Given the description of an element on the screen output the (x, y) to click on. 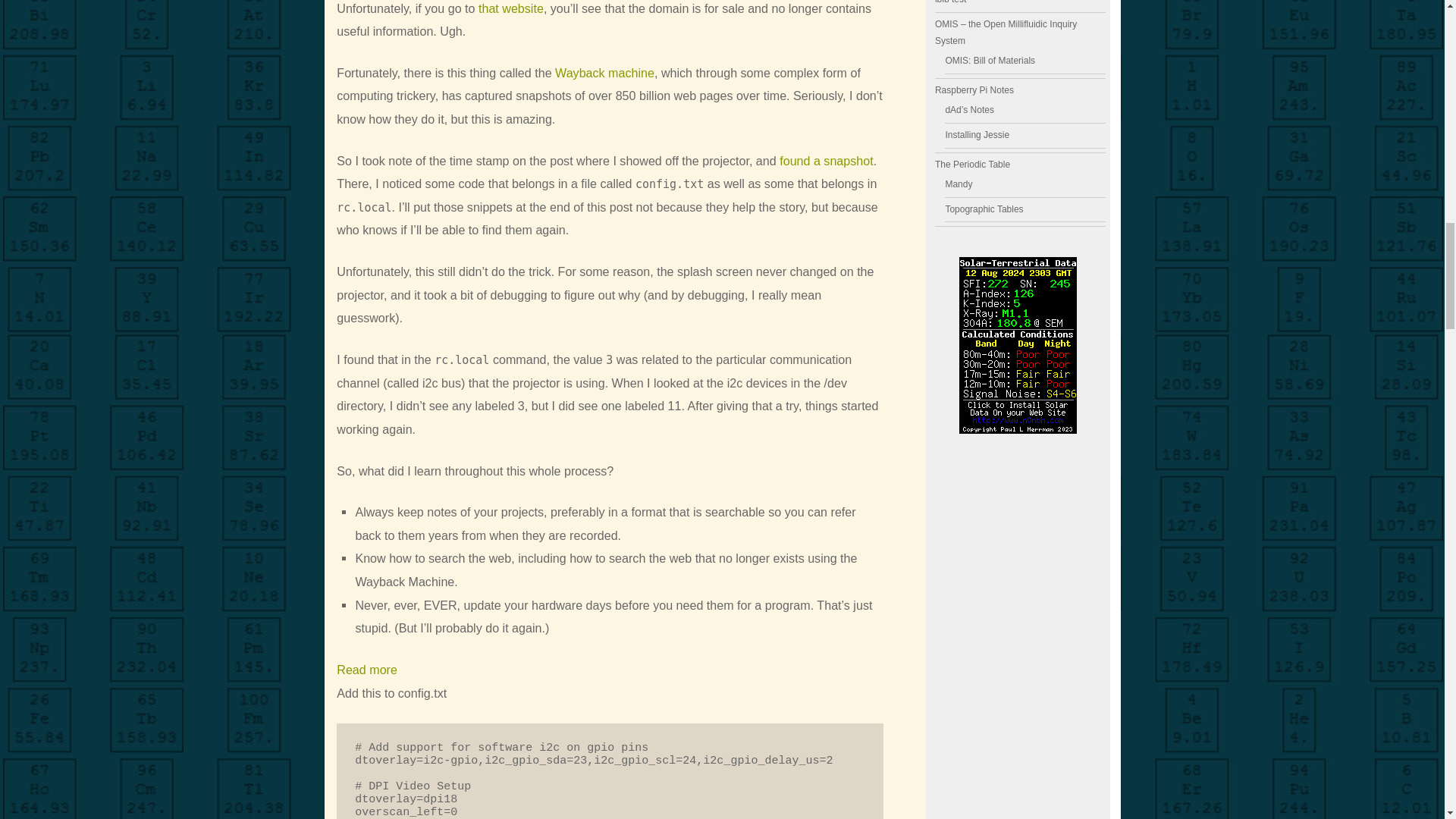
that website (511, 8)
Wayback machine (603, 73)
found a snapshot (366, 670)
